Given the description of an element on the screen output the (x, y) to click on. 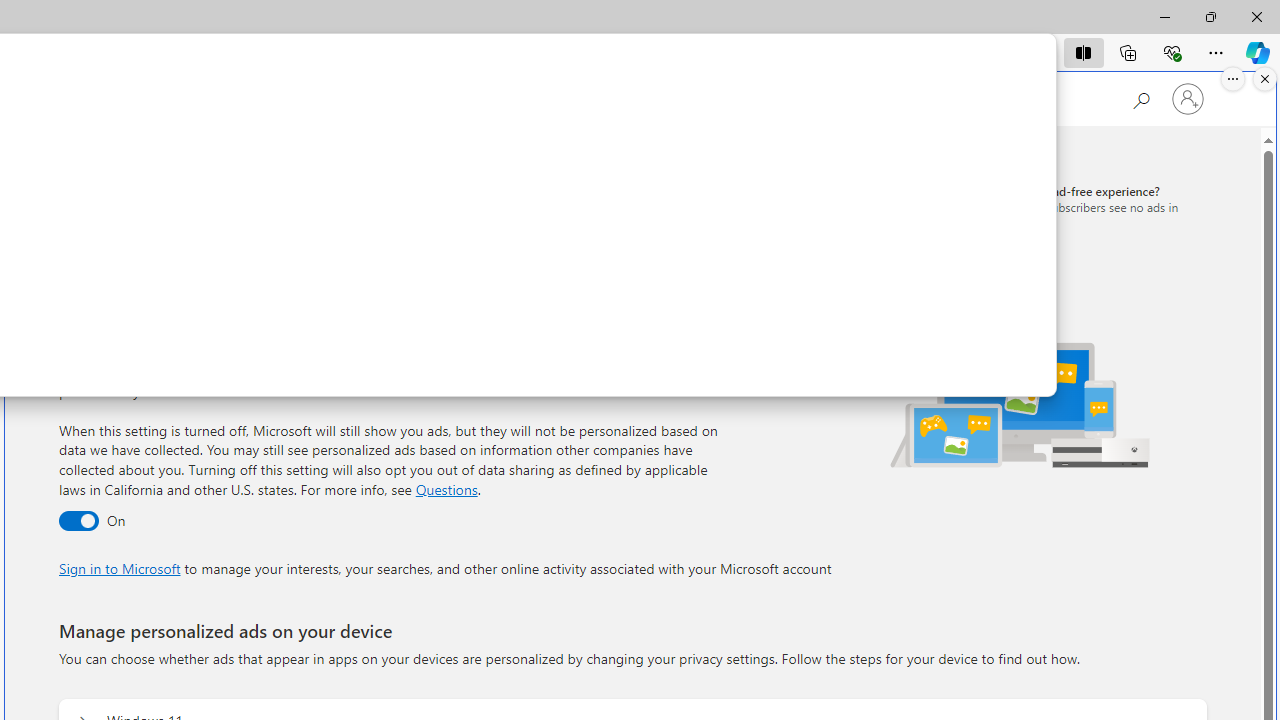
Go to Questions section (445, 488)
More options. (1233, 79)
Sign in to Microsoft (119, 568)
Looking for an ad-free experience? (1063, 206)
